Given the description of an element on the screen output the (x, y) to click on. 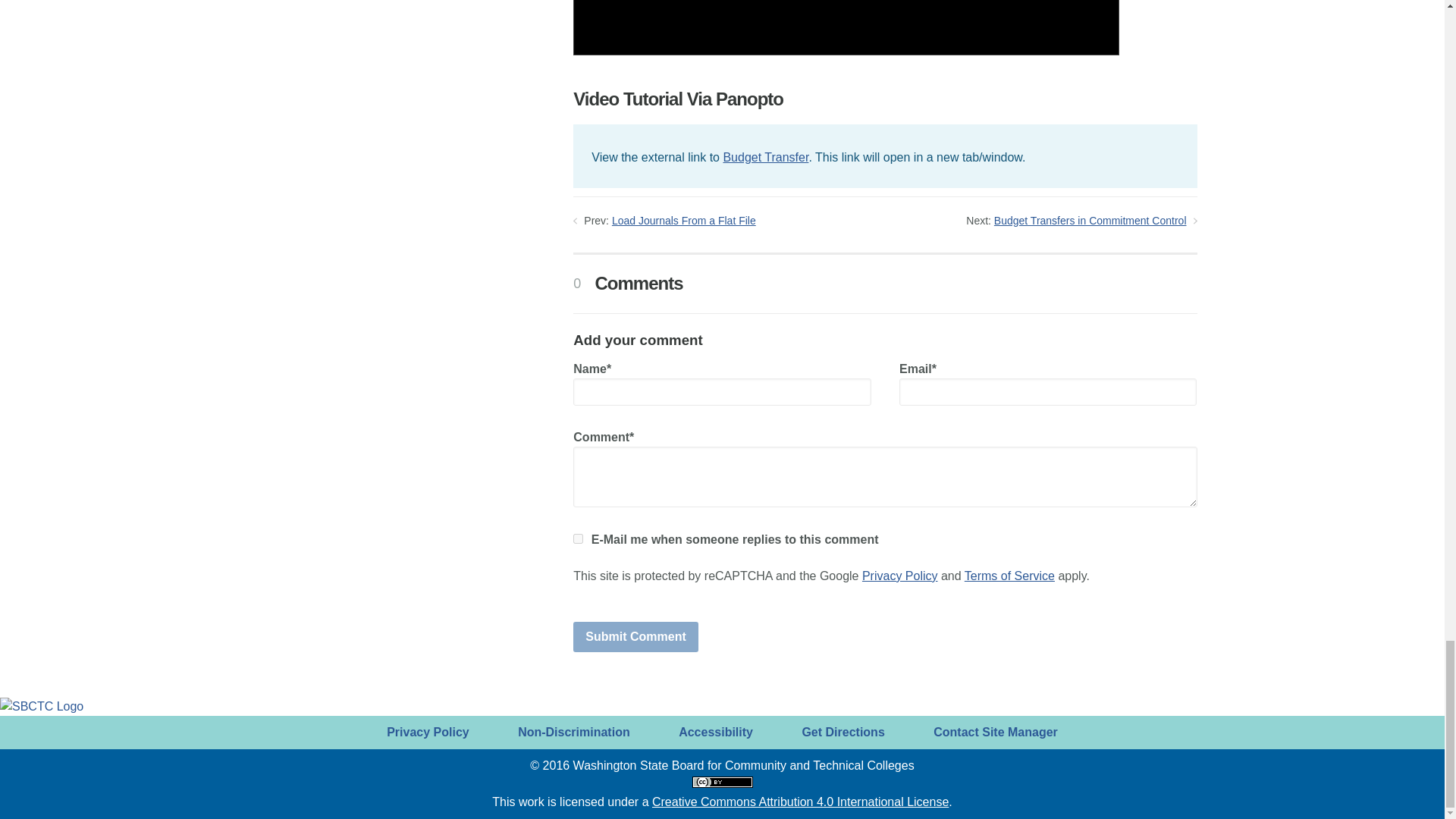
Budget Transfer (765, 156)
Terms of Service (1008, 575)
Budget Transfers in Commitment Control (1090, 220)
1 (578, 538)
Submit Comment (635, 636)
Submit Comment (635, 636)
Privacy Policy (899, 575)
Load Journals From a Flat File (683, 220)
